Given the description of an element on the screen output the (x, y) to click on. 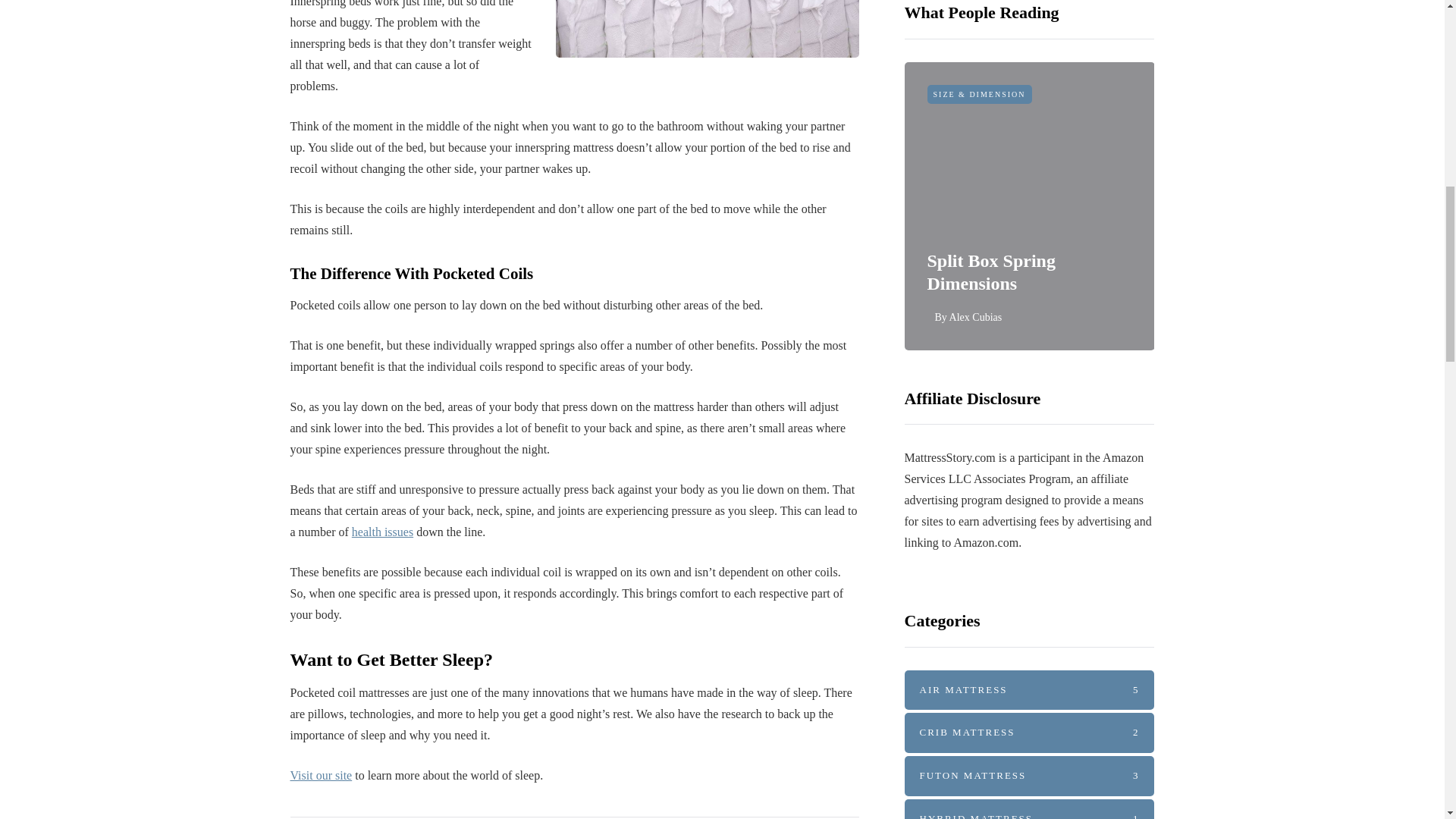
health issues (382, 531)
Visit our site (320, 775)
